Given the description of an element on the screen output the (x, y) to click on. 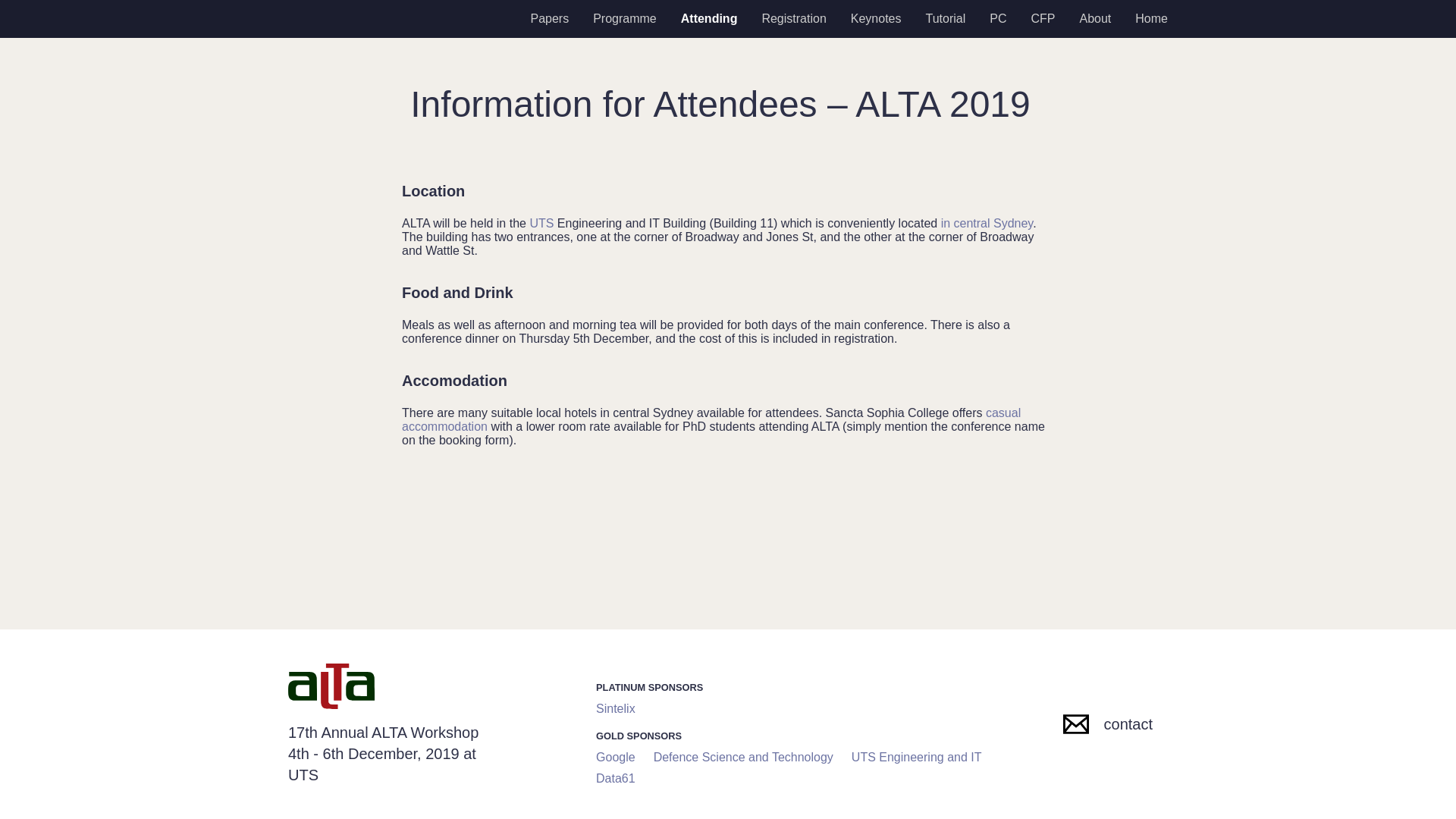
Landing Page (1150, 18)
Invited Keynote Talks (876, 18)
CSIRO Data61 (614, 778)
Papers accepted for oral or poster presentation (549, 18)
casual accommodation (710, 419)
Registration (793, 18)
Defence Science and Technology (742, 757)
UTS Faculty of Engineering and IT (916, 757)
Papers (549, 18)
Defence Science and Technology (742, 757)
UTS (541, 223)
contact (1107, 723)
Programme Committee (996, 18)
Data61 (614, 778)
Information for Attendees (708, 18)
